Given the description of an element on the screen output the (x, y) to click on. 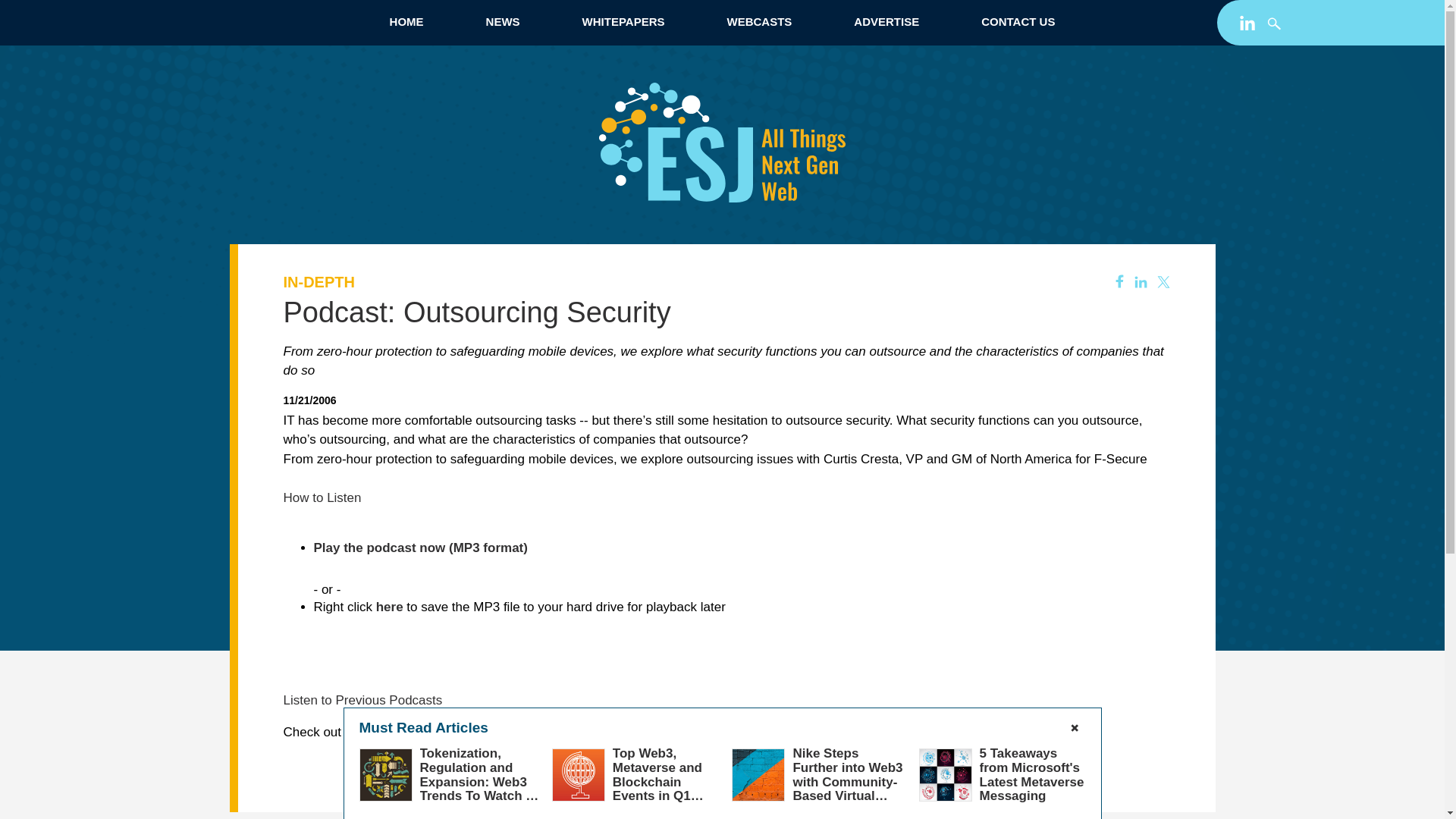
HOME (406, 21)
WHITEPAPERS (622, 21)
CONTACT US (1017, 21)
NEWS (502, 21)
Podcast Archive (570, 731)
ADVERTISE (886, 21)
IN-DEPTH (319, 281)
here (389, 606)
